Given the description of an element on the screen output the (x, y) to click on. 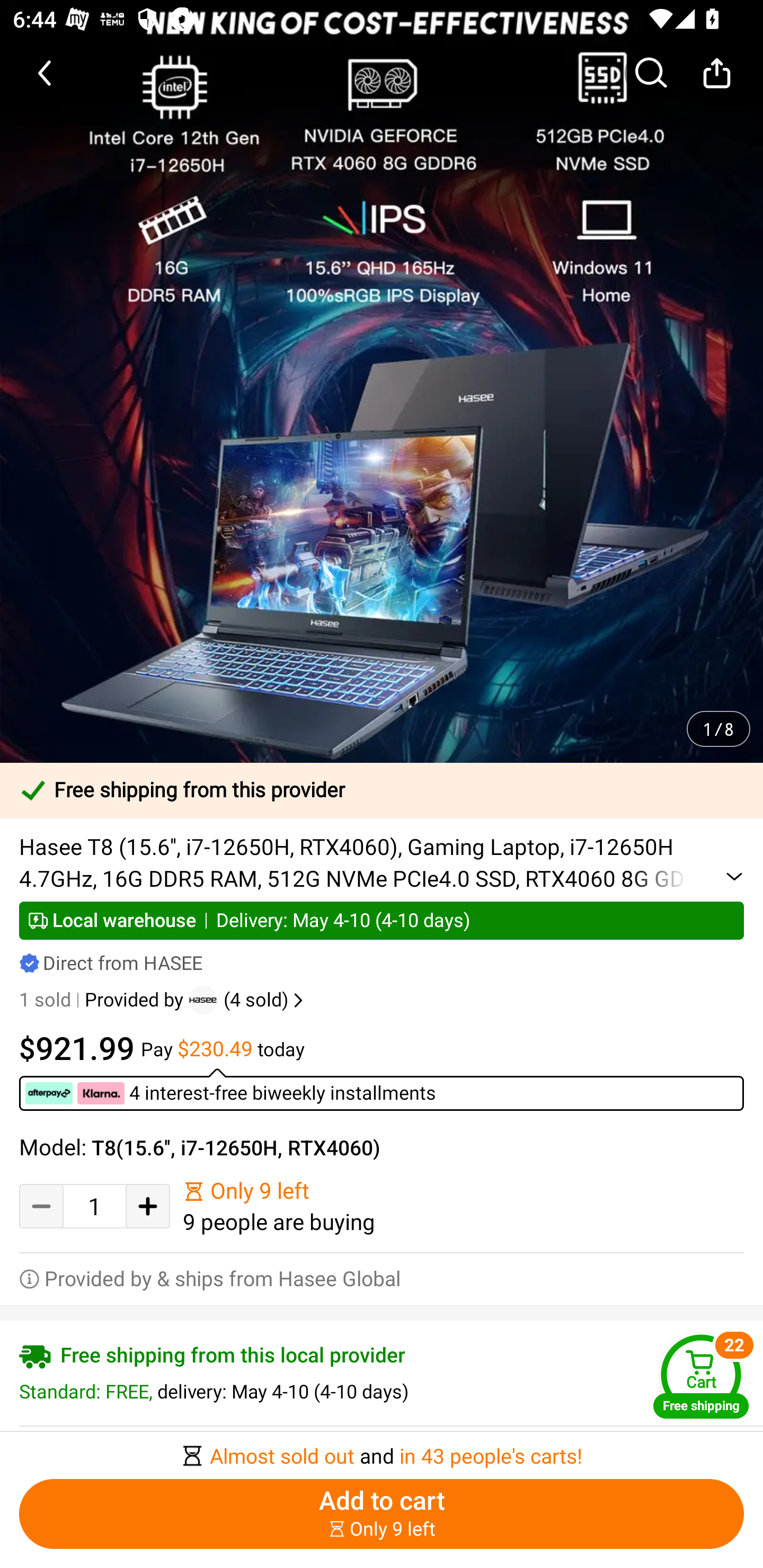
Back (46, 72)
Share (716, 72)
Free shipping from this provider (381, 790)
Local warehouse Delivery: May 4-10 (4-10 days) (381, 920)
1 sold Provided by  (103, 1000)
￼ ￼ 4 interest-free biweekly installments (381, 1088)
Decrease Quantity Button (41, 1205)
Add Quantity button (147, 1205)
1 (94, 1206)
Cart Free shipping Cart (701, 1375)
￼￼Almost sold out and in 43 people's carts! (381, 1450)
Add to cart ￼￼Only 9 left (381, 1513)
